Given the description of an element on the screen output the (x, y) to click on. 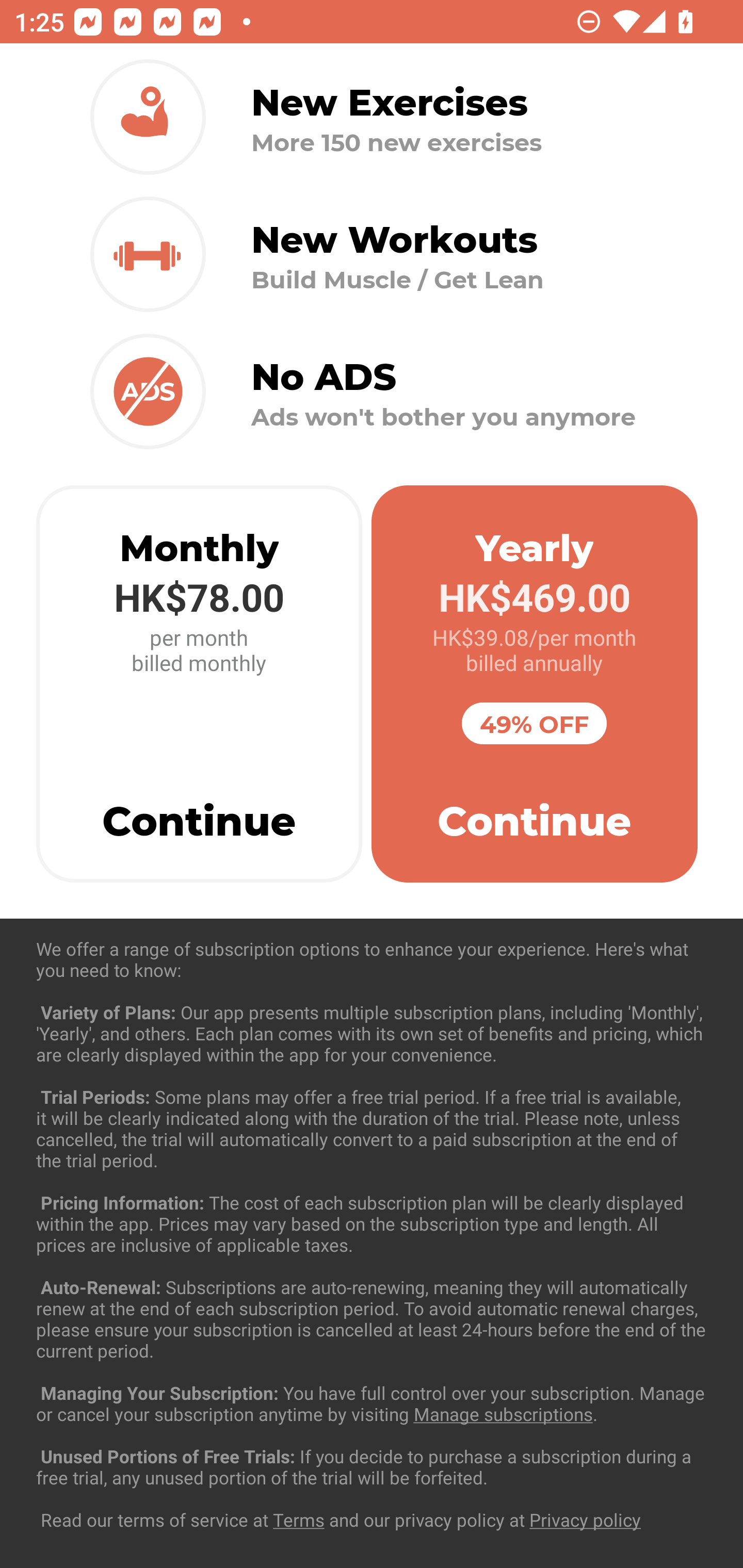
Monthly HK$78.00 per month
billed monthly Continue (199, 684)
Exercise Chest 37 exercises (371, 1033)
Exercise Forearms 4 exercises (371, 1232)
Exercise Legs 36 exercises (371, 1430)
